Given the description of an element on the screen output the (x, y) to click on. 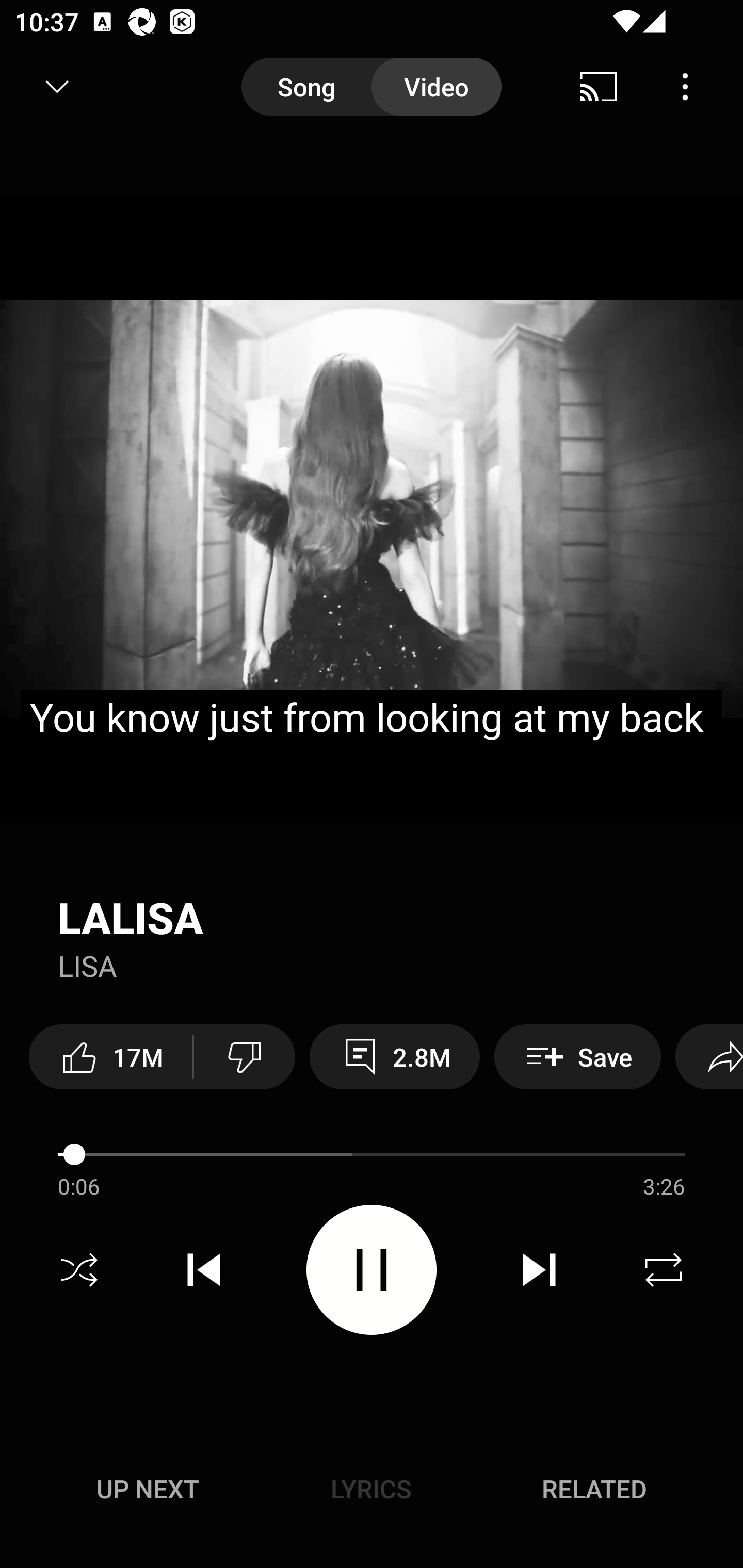
Minimize (57, 86)
Cast. Disconnected (598, 86)
Menu (684, 86)
Dislike (243, 1056)
2.8M View 2,809,575 comments (394, 1056)
Save Save to playlist (577, 1056)
Share (709, 1056)
Pause video (371, 1269)
Shuffle off (79, 1269)
Previous track (203, 1269)
Next track (538, 1269)
Repeat off (663, 1269)
Up next UP NEXT Lyrics LYRICS Related RELATED (371, 1491)
Lyrics LYRICS (370, 1488)
Related RELATED (594, 1488)
